Given the description of an element on the screen output the (x, y) to click on. 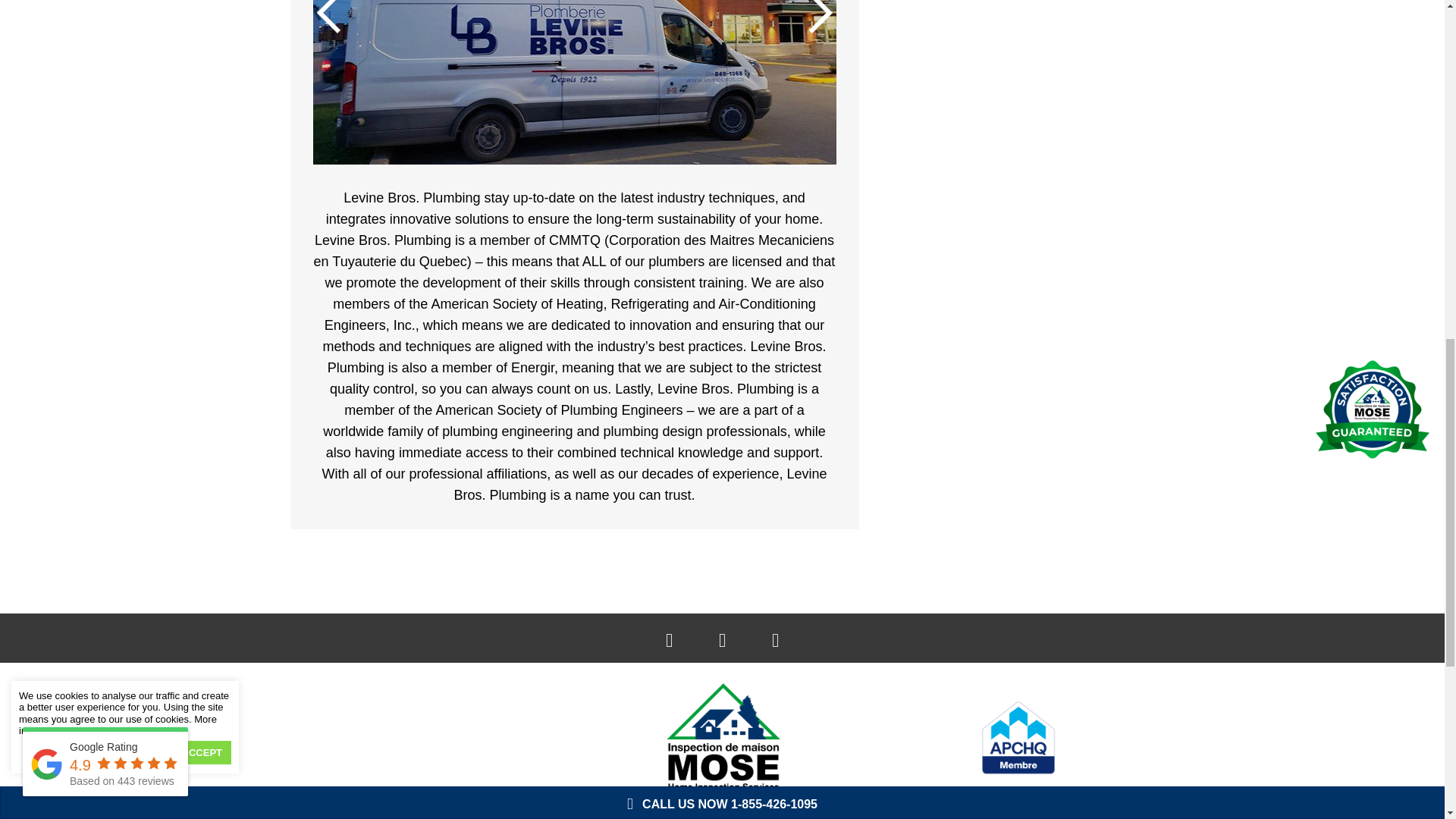
apchq-logo-2024 (1018, 738)
mose-home-inspection-logo-01 (722, 737)
